Given the description of an element on the screen output the (x, y) to click on. 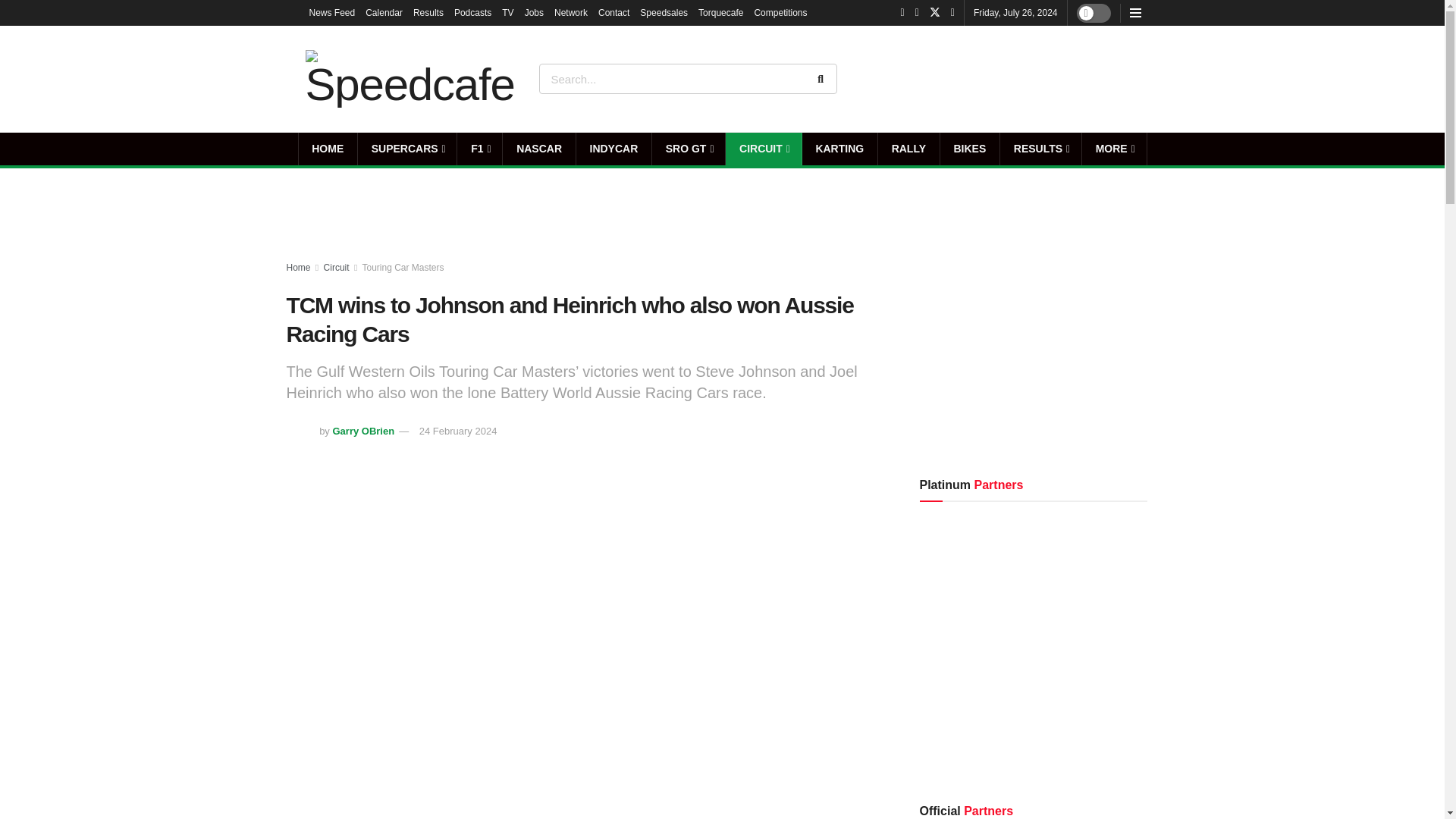
Truck Assist (1097, 78)
Podcasts (473, 12)
News Feed (331, 12)
TV (507, 12)
Results (428, 12)
Torquecafe (720, 12)
Competitions (780, 12)
SUPERCARS (407, 148)
Network (571, 12)
F1 (479, 148)
Contact (613, 12)
HOME (327, 148)
Speedsales (663, 12)
Calendar (384, 12)
Jobs (533, 12)
